Given the description of an element on the screen output the (x, y) to click on. 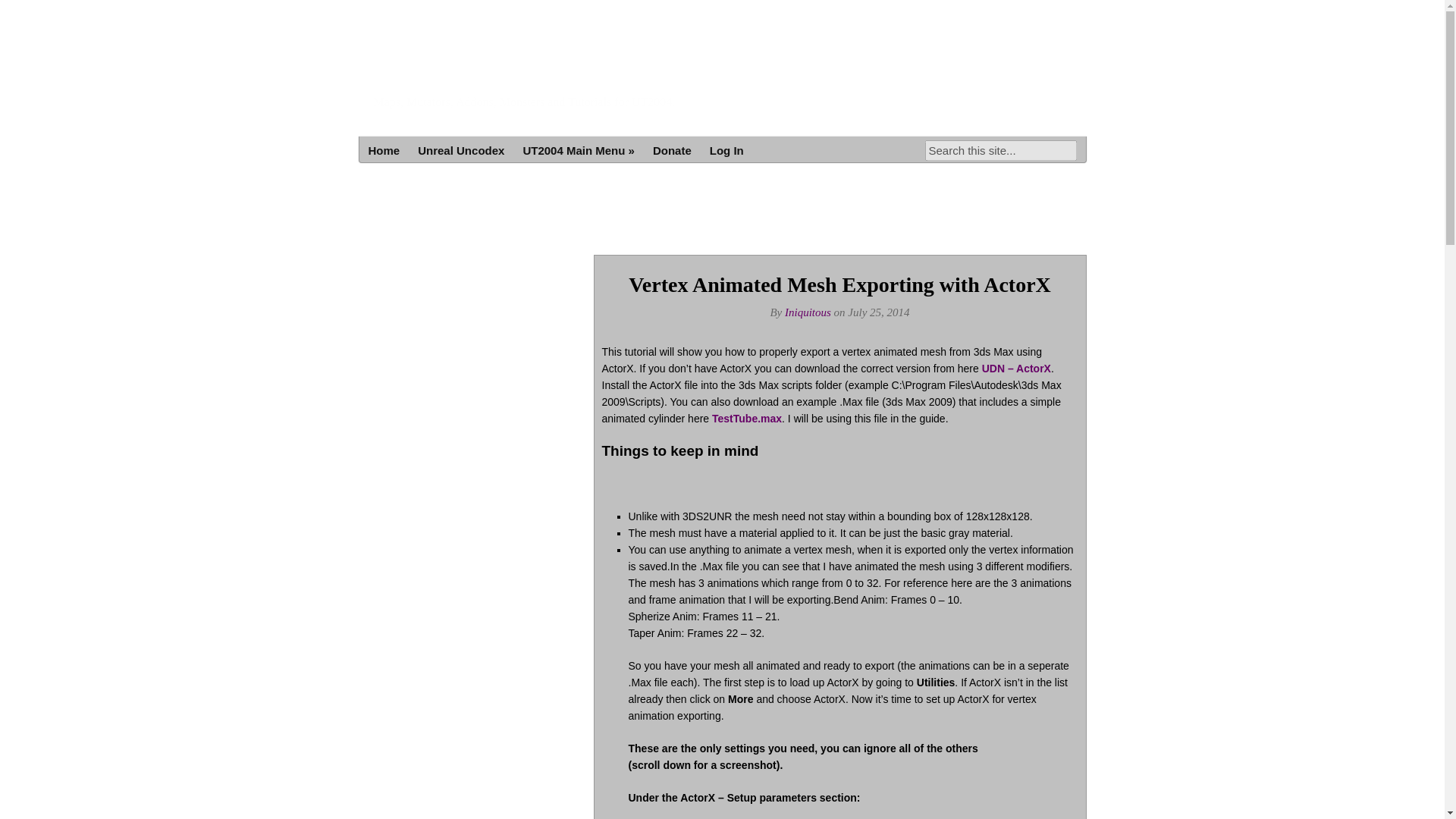
Iniquitous (807, 312)
Unreal Uncodex (461, 150)
Iniquitous - Unreal (516, 73)
Vertex Animated Mesh Exporting with ActorX (839, 284)
TestTube.max (746, 418)
INIQUITOUS - UNREAL (516, 73)
Search this site... (1000, 150)
Search this site... (1000, 150)
Search (21, 10)
Iniquitous (807, 312)
Friday, July 25th, 2014, 7:40 pm (877, 312)
Home (384, 150)
Donate (671, 150)
Advertisement (957, 212)
Log In (726, 150)
